Given the description of an element on the screen output the (x, y) to click on. 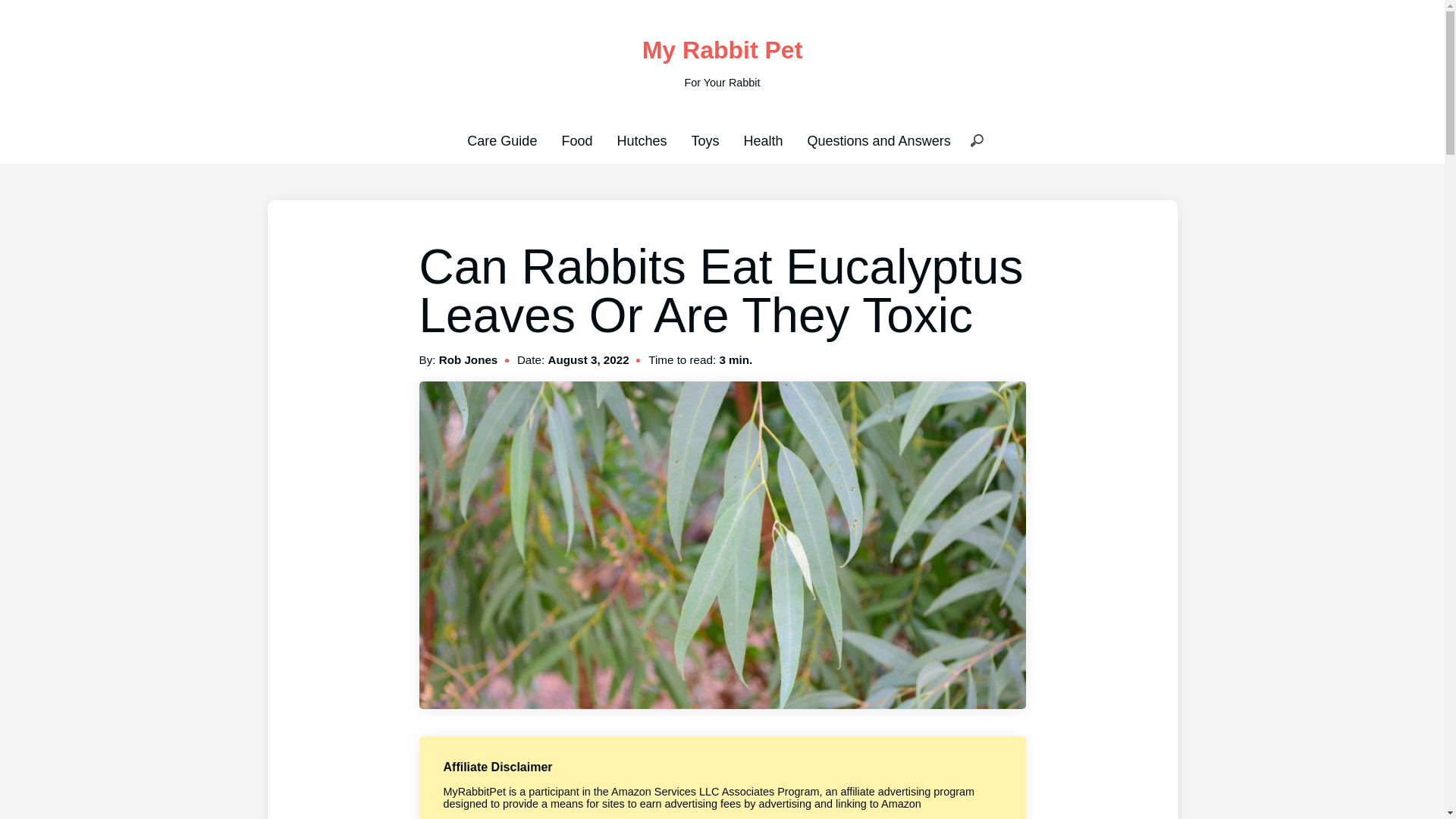
Care Guide (502, 140)
Questions and Answers (879, 140)
Hutches (640, 140)
Search for: (976, 141)
Health (762, 140)
Food (576, 140)
Toys (704, 140)
My Rabbit Pet (722, 49)
